Given the description of an element on the screen output the (x, y) to click on. 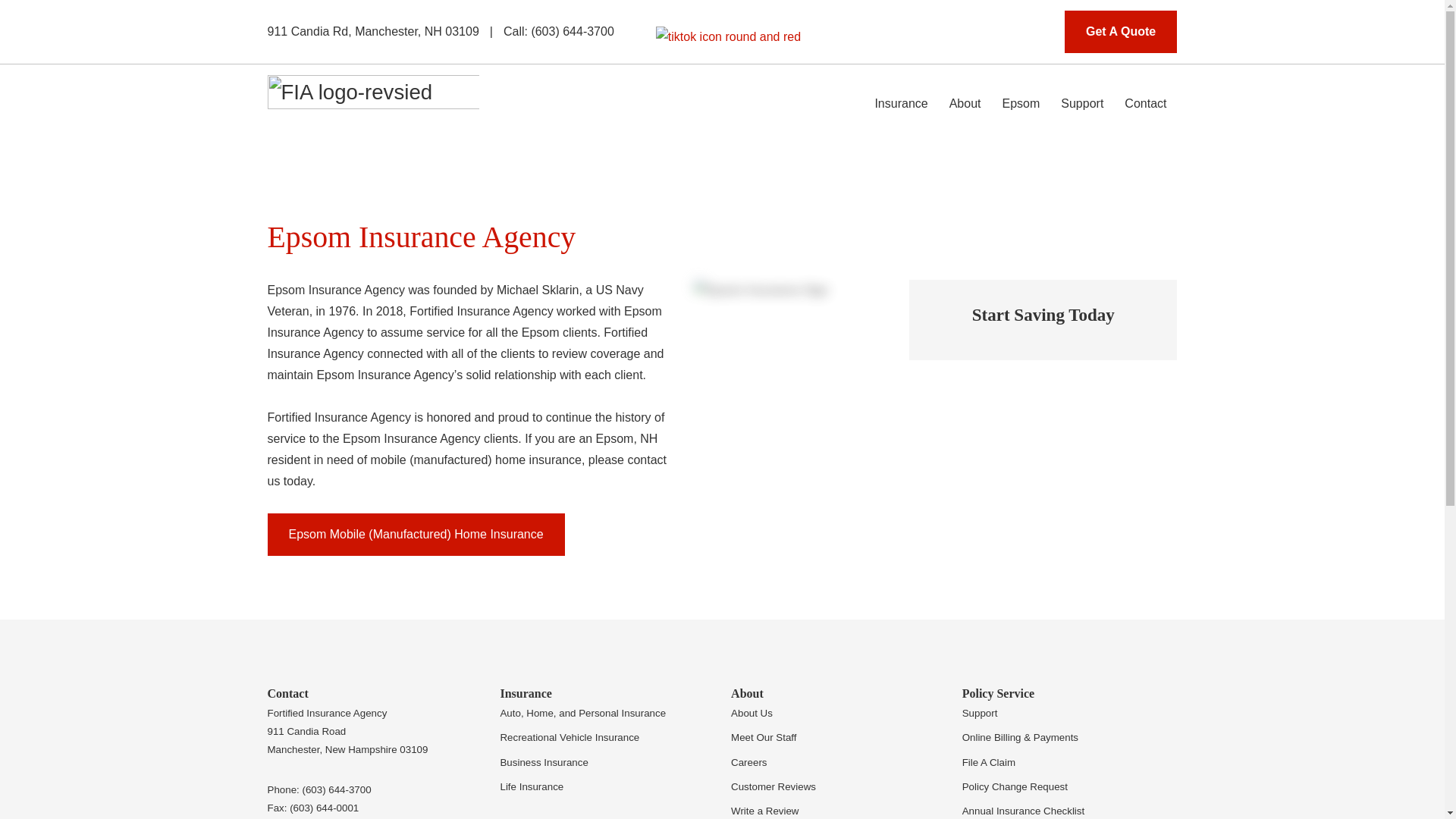
Get A Quote (1120, 31)
Home Page (372, 103)
About (965, 103)
tiktok-round (728, 36)
FIA logo-revsied (372, 109)
Insurance (900, 103)
